Given the description of an element on the screen output the (x, y) to click on. 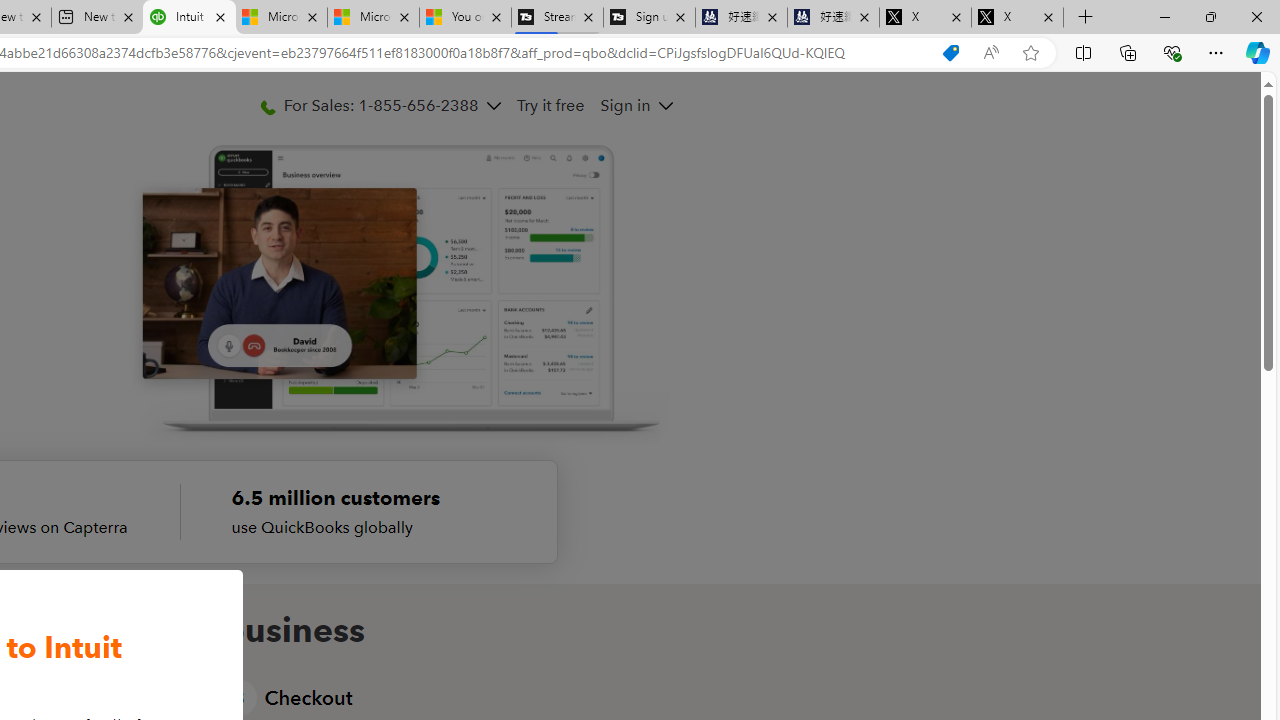
Intuit QuickBooks Online - Quickbooks (189, 17)
Sign in (625, 105)
Try it free (549, 105)
Class: MenuItem_dDown__f585abf6 MenuItem_white__f585abf6 (665, 106)
Sign in (636, 105)
Try it free (549, 105)
